Given the description of an element on the screen output the (x, y) to click on. 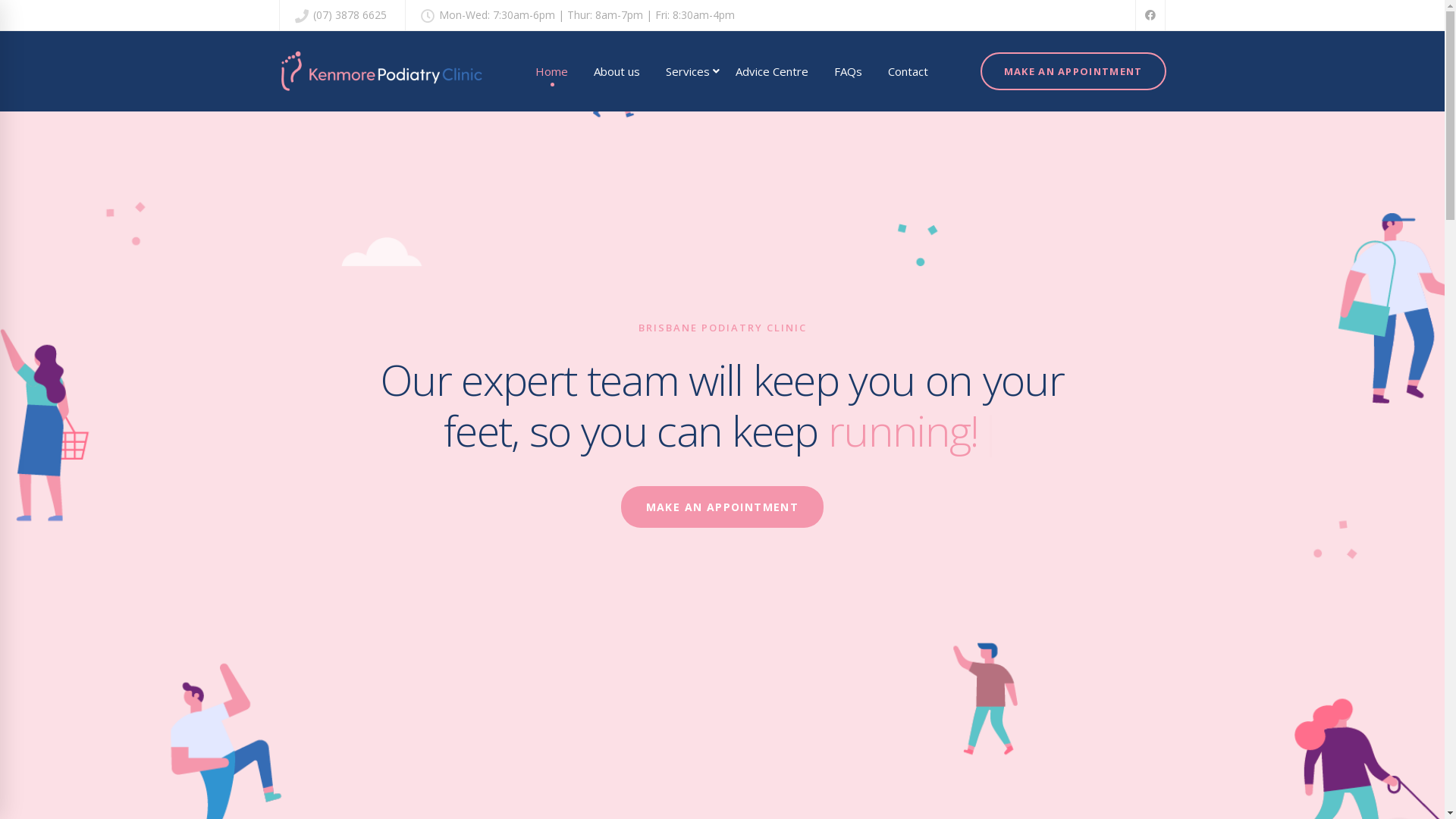
Contact Element type: text (907, 70)
MAKE AN APPOINTMENT Element type: text (722, 506)
About us Element type: text (616, 70)
Home Element type: text (551, 70)
+Services Element type: text (687, 70)
FAQs Element type: text (847, 70)
MAKE AN APPOINTMENT Element type: text (1073, 71)
Advice Centre Element type: text (771, 70)
